Given the description of an element on the screen output the (x, y) to click on. 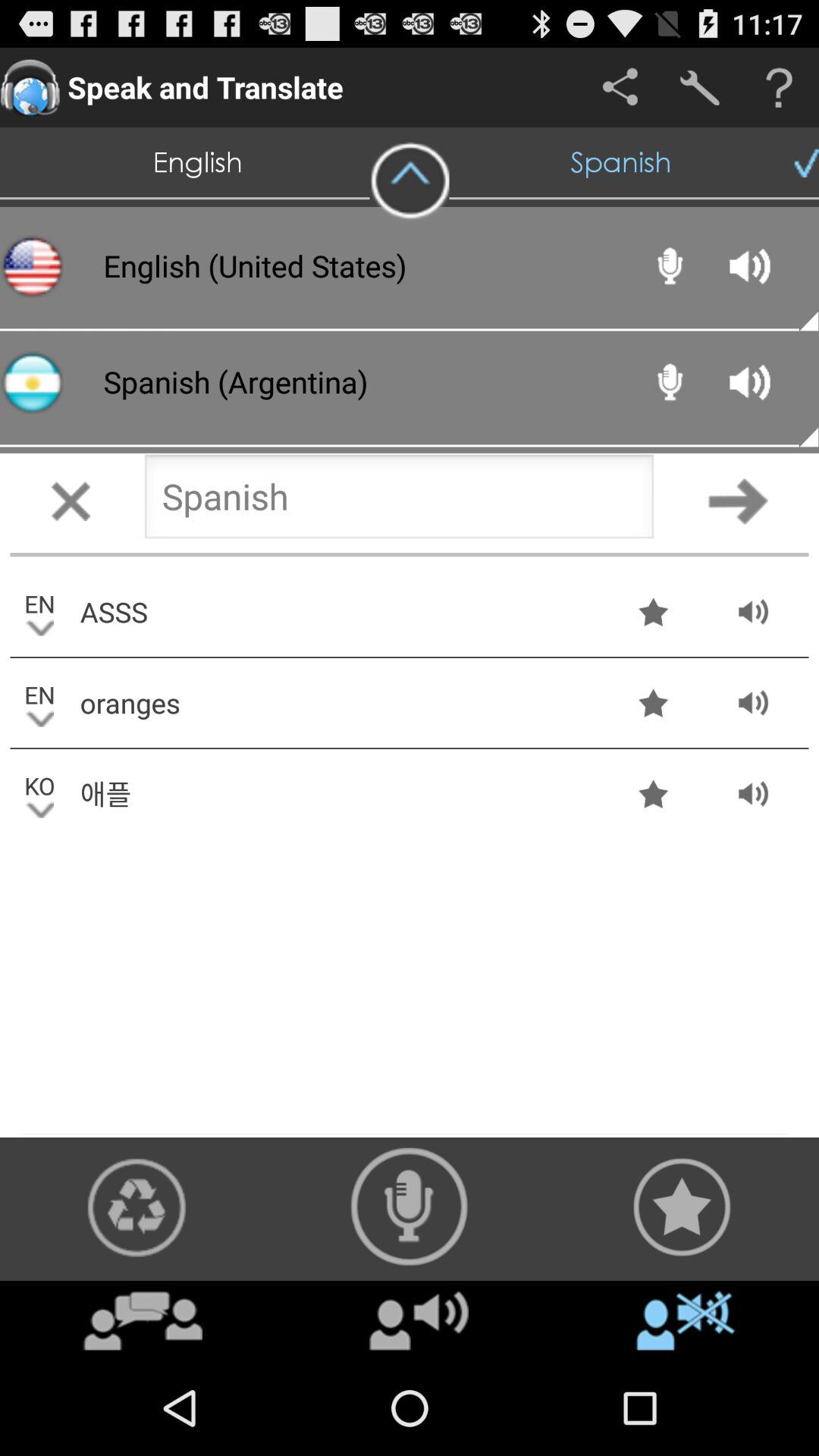
turn on icon above the english (united states) item (409, 181)
